Given the description of an element on the screen output the (x, y) to click on. 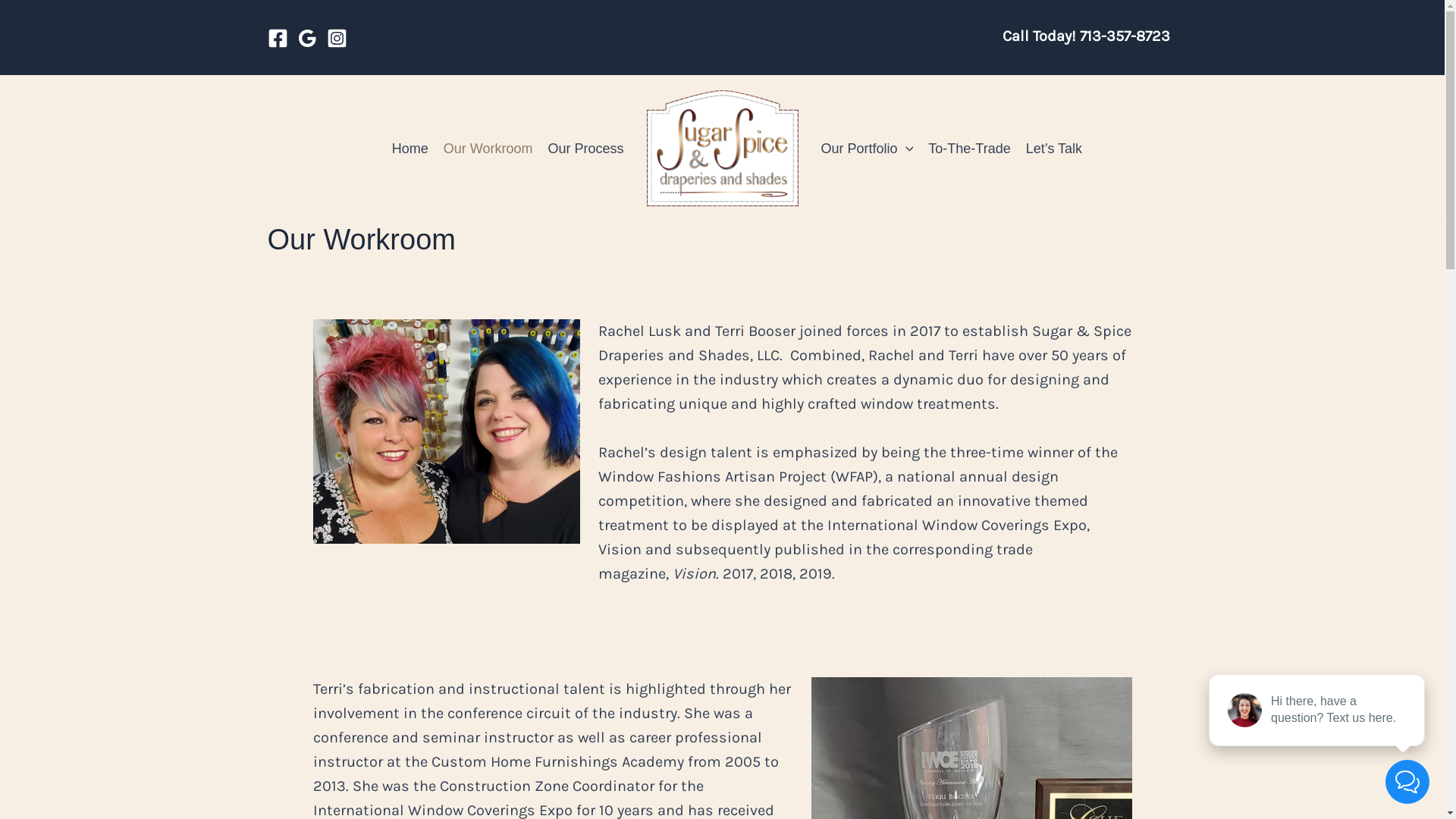
713-357-8723 Element type: text (1124, 35)
Our Portfolio Element type: text (866, 148)
Our Process Element type: text (584, 148)
To-The-Trade Element type: text (968, 148)
Our Workroom Element type: text (488, 148)
Home Element type: text (410, 148)
